Given the description of an element on the screen output the (x, y) to click on. 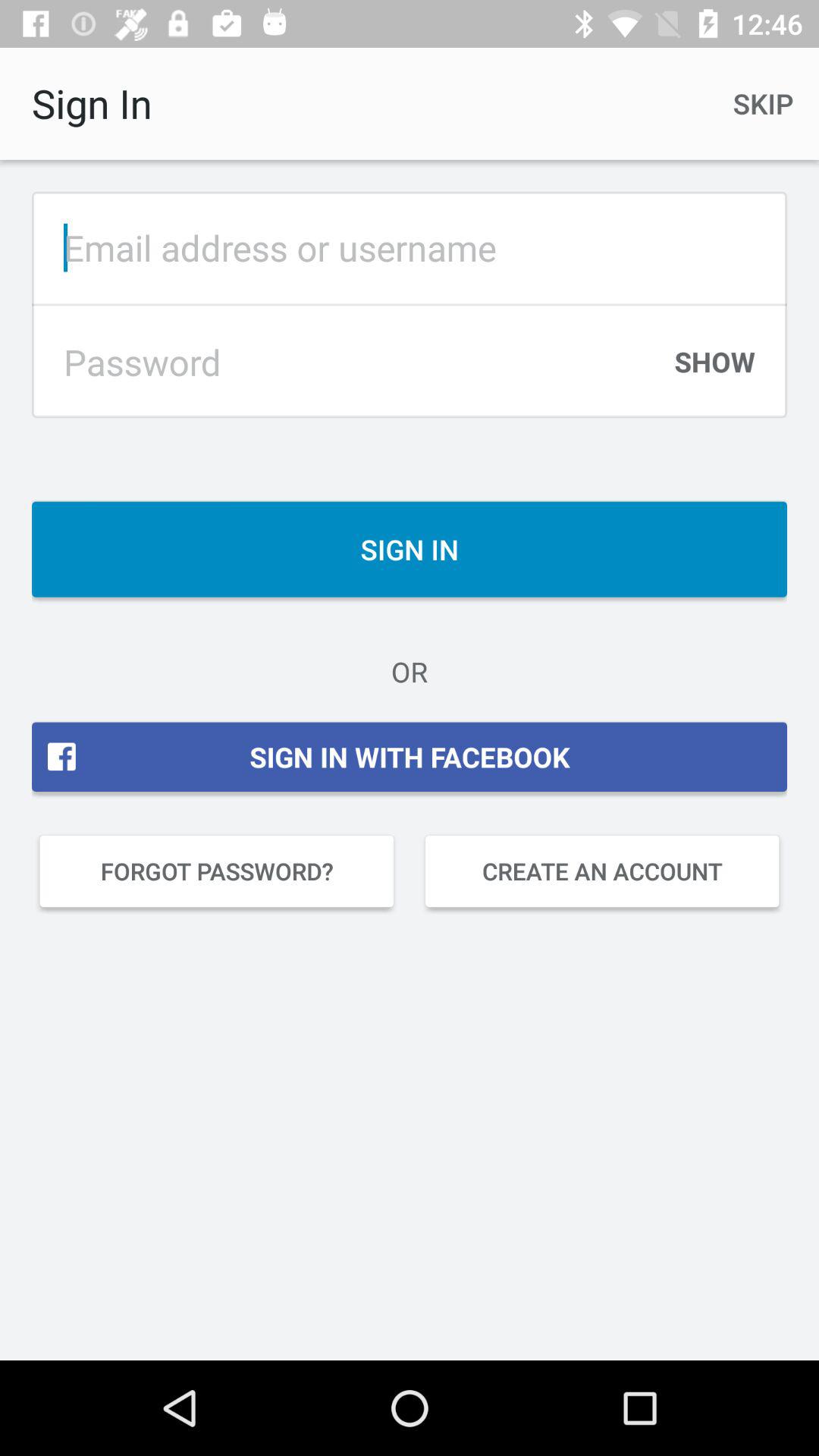
open item next to forgot password? item (602, 871)
